Given the description of an element on the screen output the (x, y) to click on. 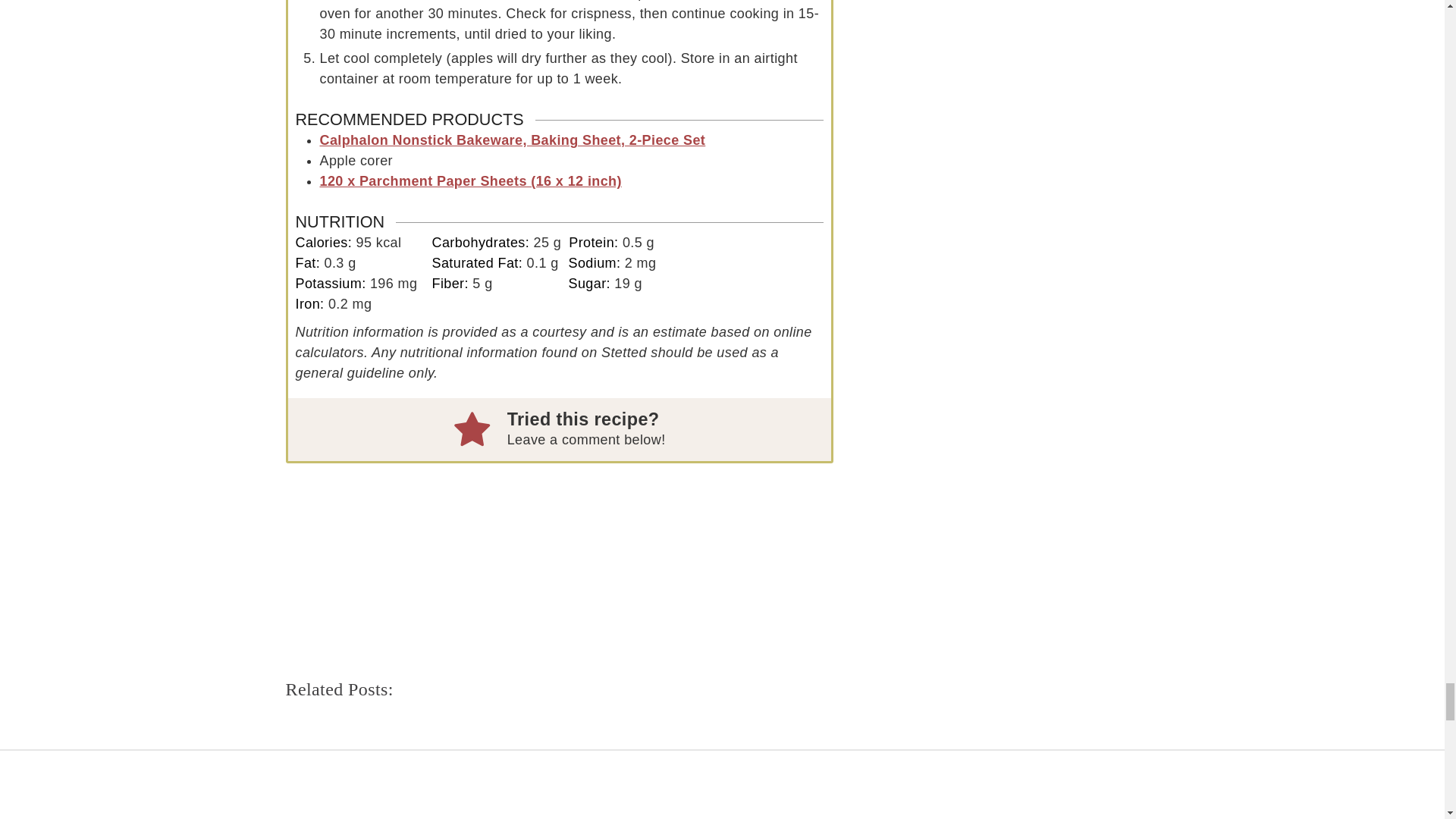
Savory Apple Cheddar Bread Pudding (374, 762)
Beer-Glazed Sausage with Brussels Sprouts and Apples (744, 762)
Apple Spice Cake (559, 762)
